Given the description of an element on the screen output the (x, y) to click on. 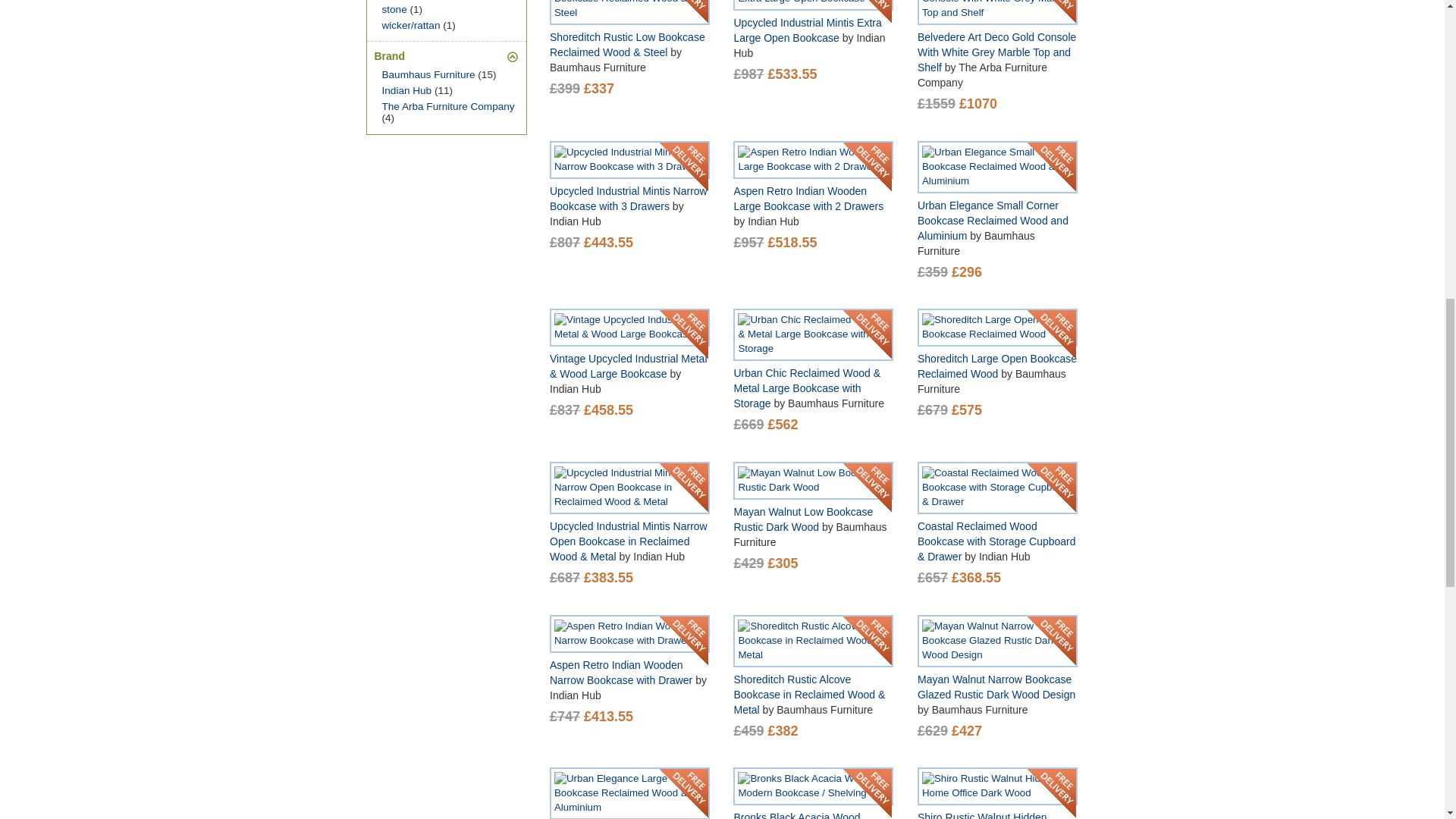
Upcycled Industrial Mintis Narrow Bookcase with 3 Drawers  (629, 159)
Shoreditch Large Open Bookcase Reclaimed Wood (997, 327)
Aspen Retro Indian Wooden Large Bookcase with 2 Drawers (813, 159)
Upcycled Industrial Mintis Extra Large Open Bookcase (813, 2)
Mayan Walnut Low Bookcase Rustic Dark Wood (813, 480)
